Given the description of an element on the screen output the (x, y) to click on. 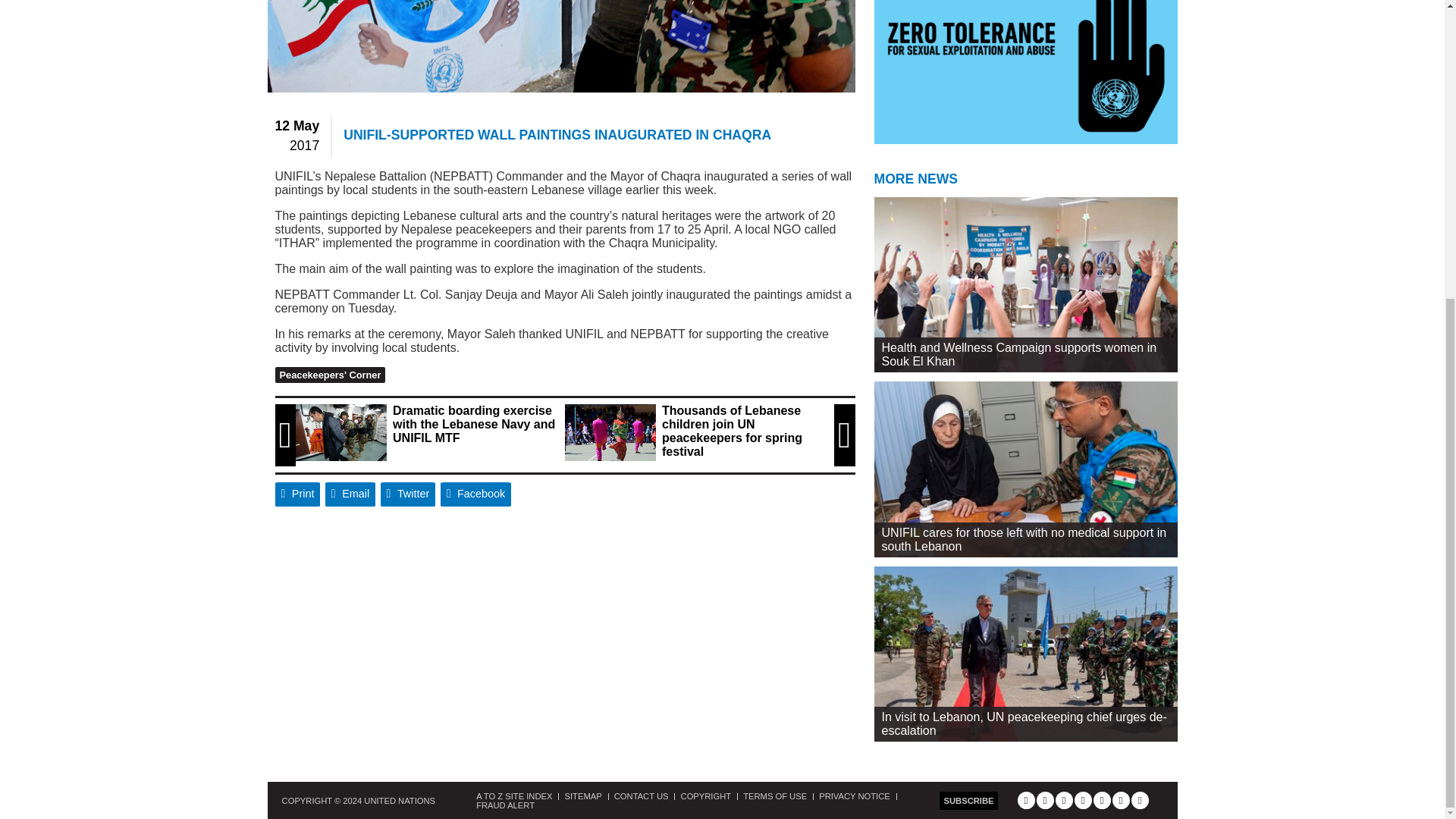
Print (297, 494)
Email (349, 494)
